Given the description of an element on the screen output the (x, y) to click on. 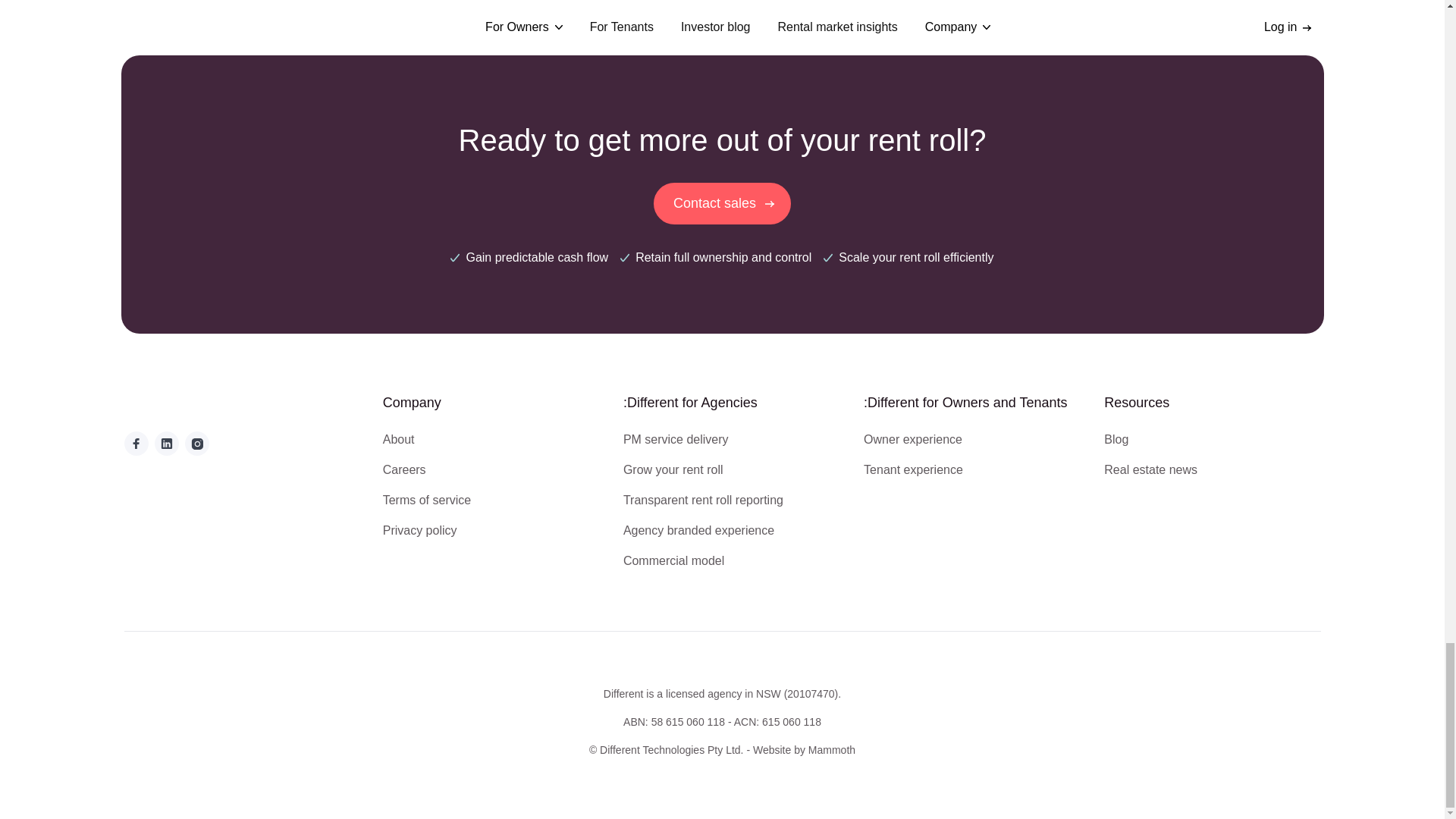
Linkedin IconLinkedin button (166, 443)
Made by Mammoth (804, 749)
Facebook IconFacebook button (135, 443)
